Given the description of an element on the screen output the (x, y) to click on. 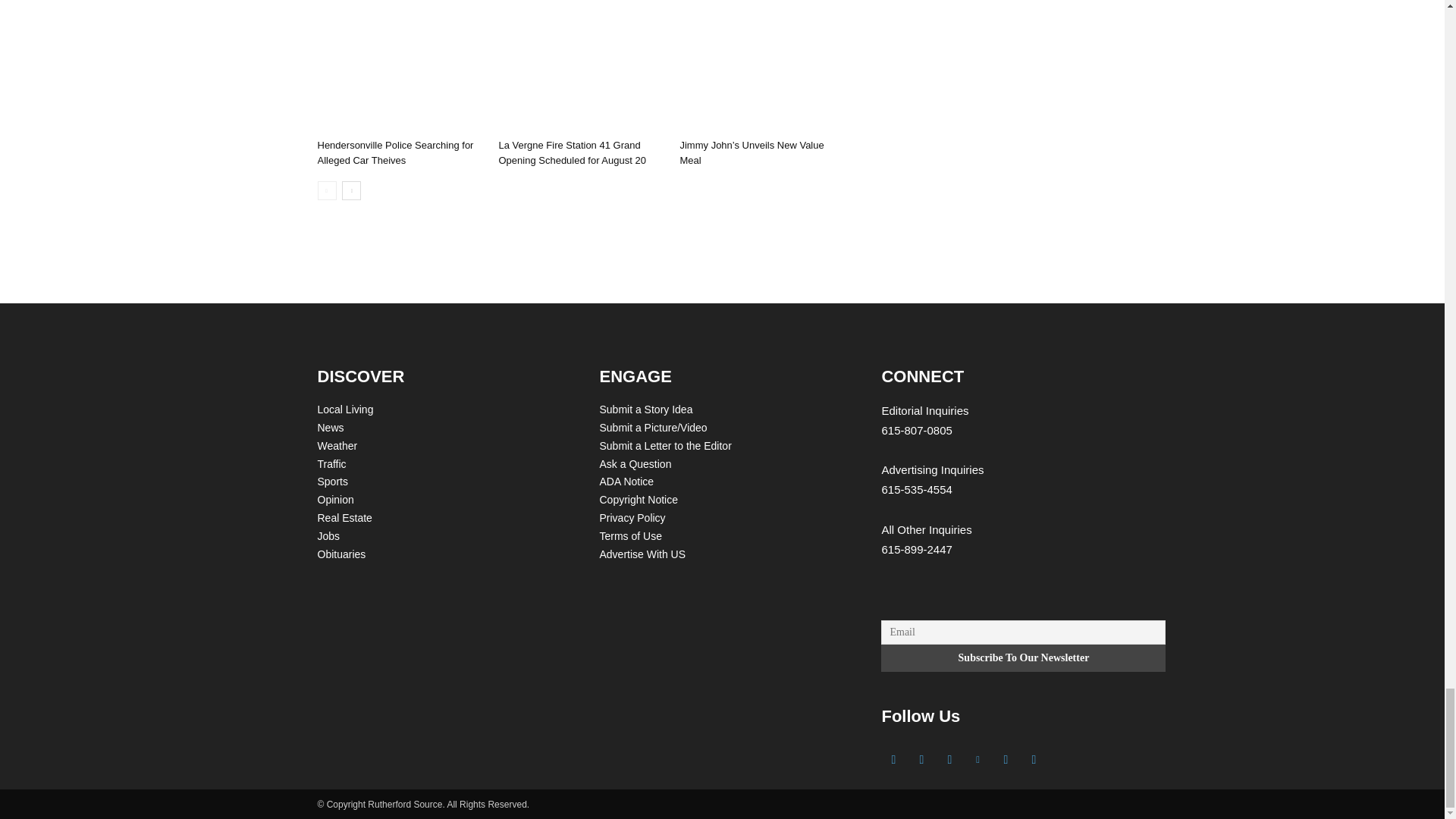
Subscribe To Our Newsletter (1023, 657)
